Given the description of an element on the screen output the (x, y) to click on. 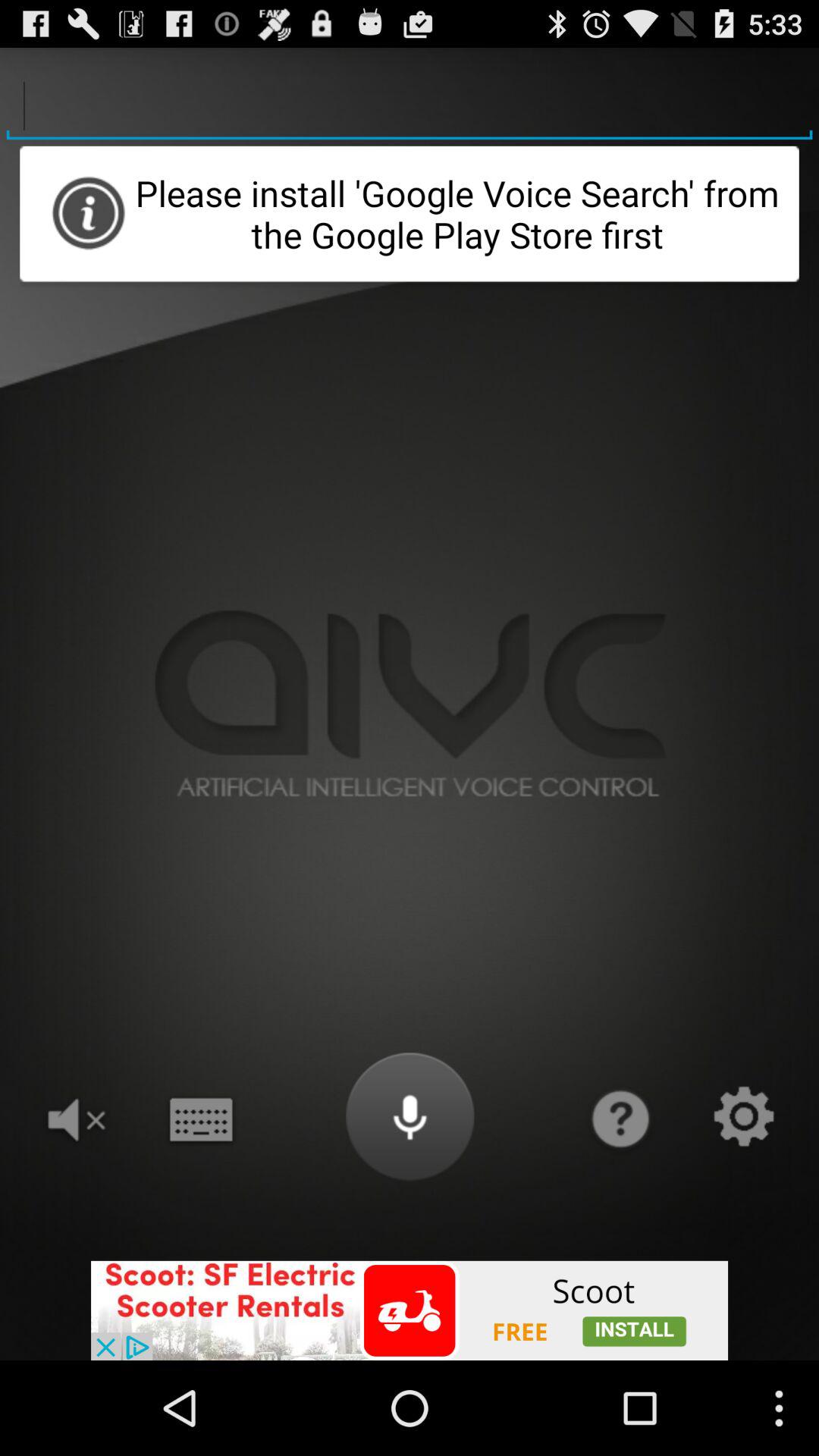
view the adversitement (409, 1310)
